Given the description of an element on the screen output the (x, y) to click on. 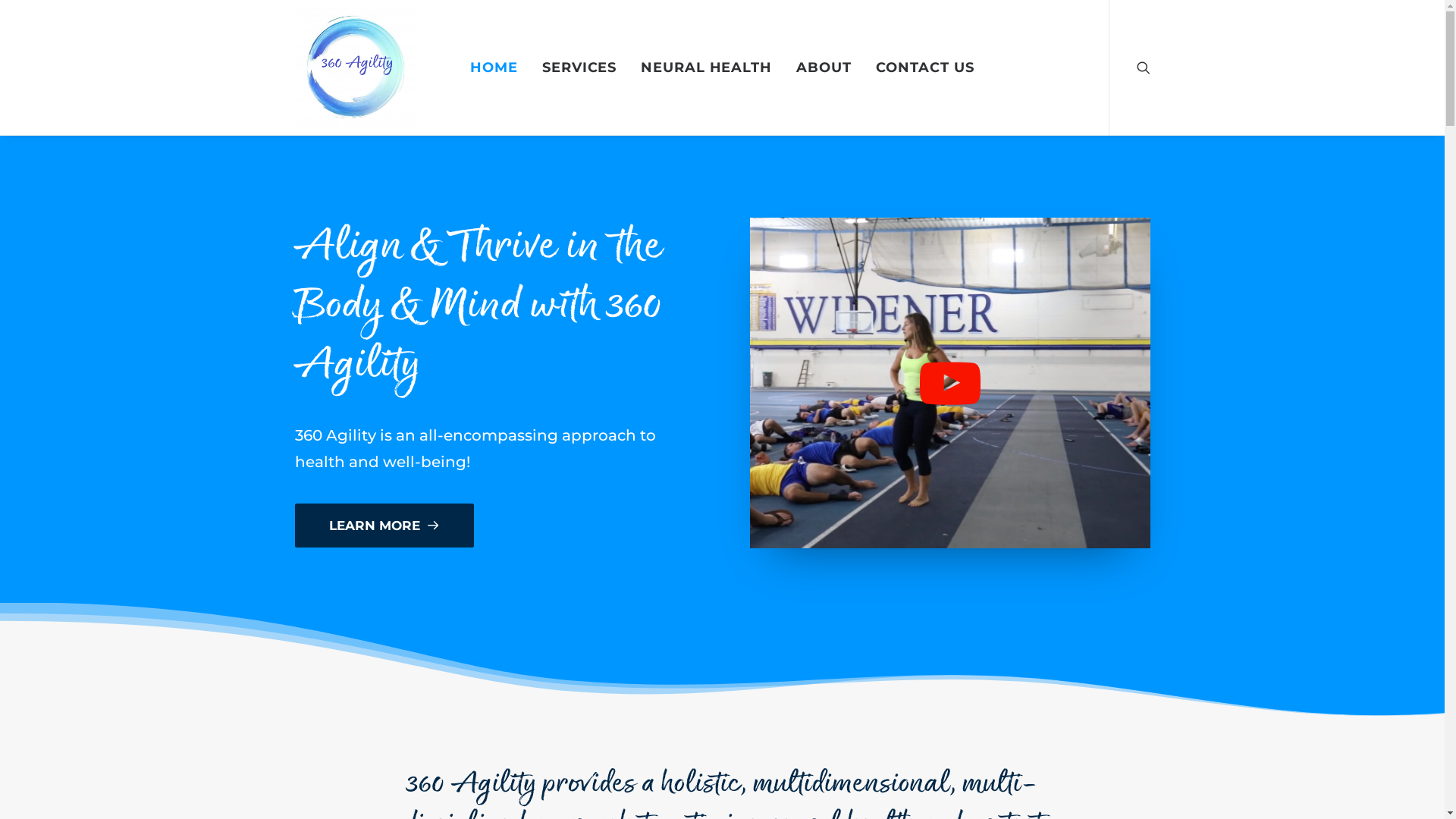
HOME Element type: text (493, 67)
CONTACT US Element type: text (924, 67)
ABOUT Element type: text (823, 67)
LEARN MORE Element type: text (383, 525)
NEURAL HEALTH Element type: text (706, 67)
SERVICES Element type: text (579, 67)
